Given the description of an element on the screen output the (x, y) to click on. 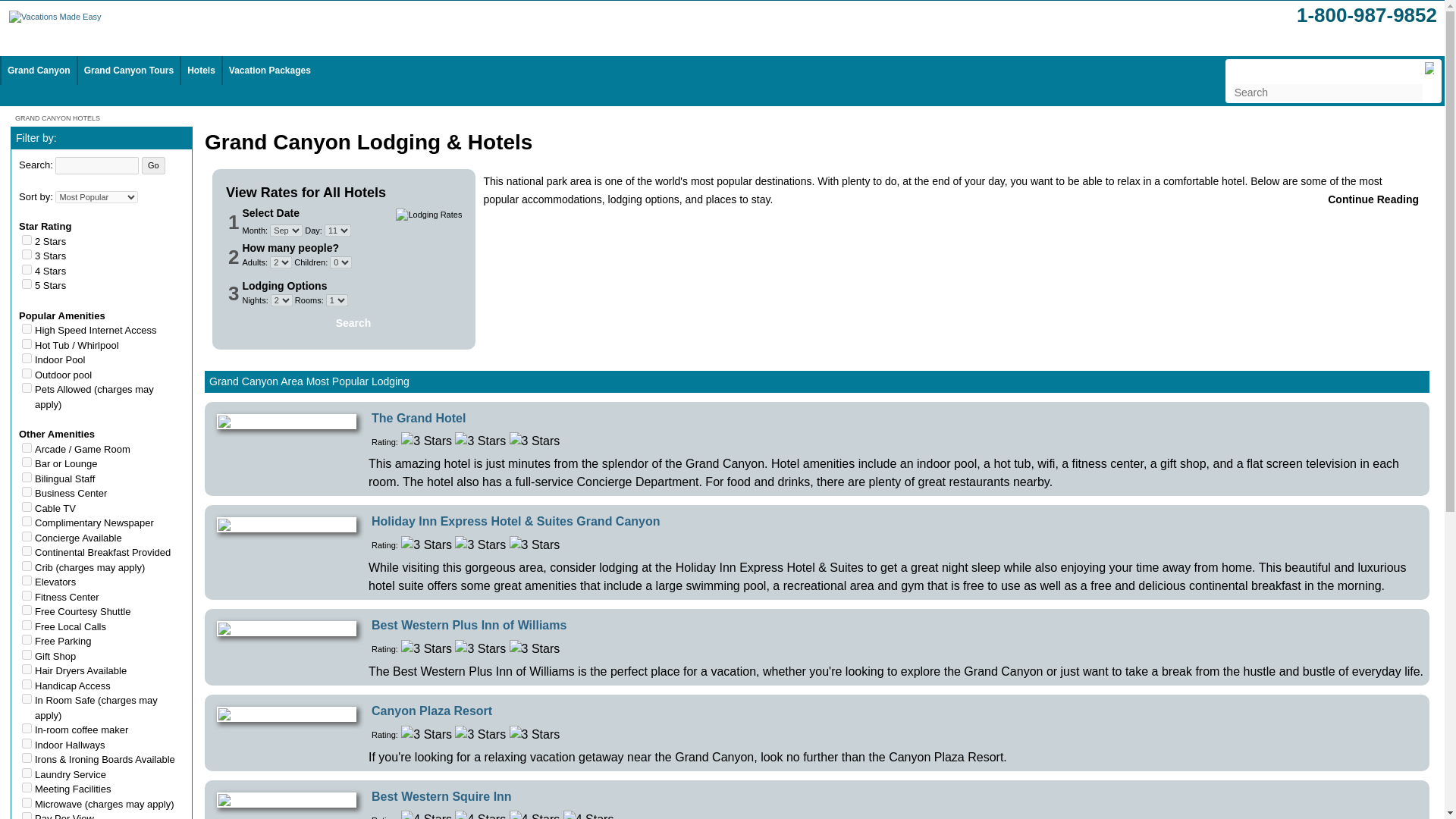
4 Stars (588, 814)
4 Stars (479, 814)
43 (26, 535)
5 (26, 284)
9 (26, 461)
11 (26, 388)
3 Stars (426, 648)
15 (26, 343)
GRAND CANYON HOTELS (57, 117)
3 Stars (479, 545)
